Given the description of an element on the screen output the (x, y) to click on. 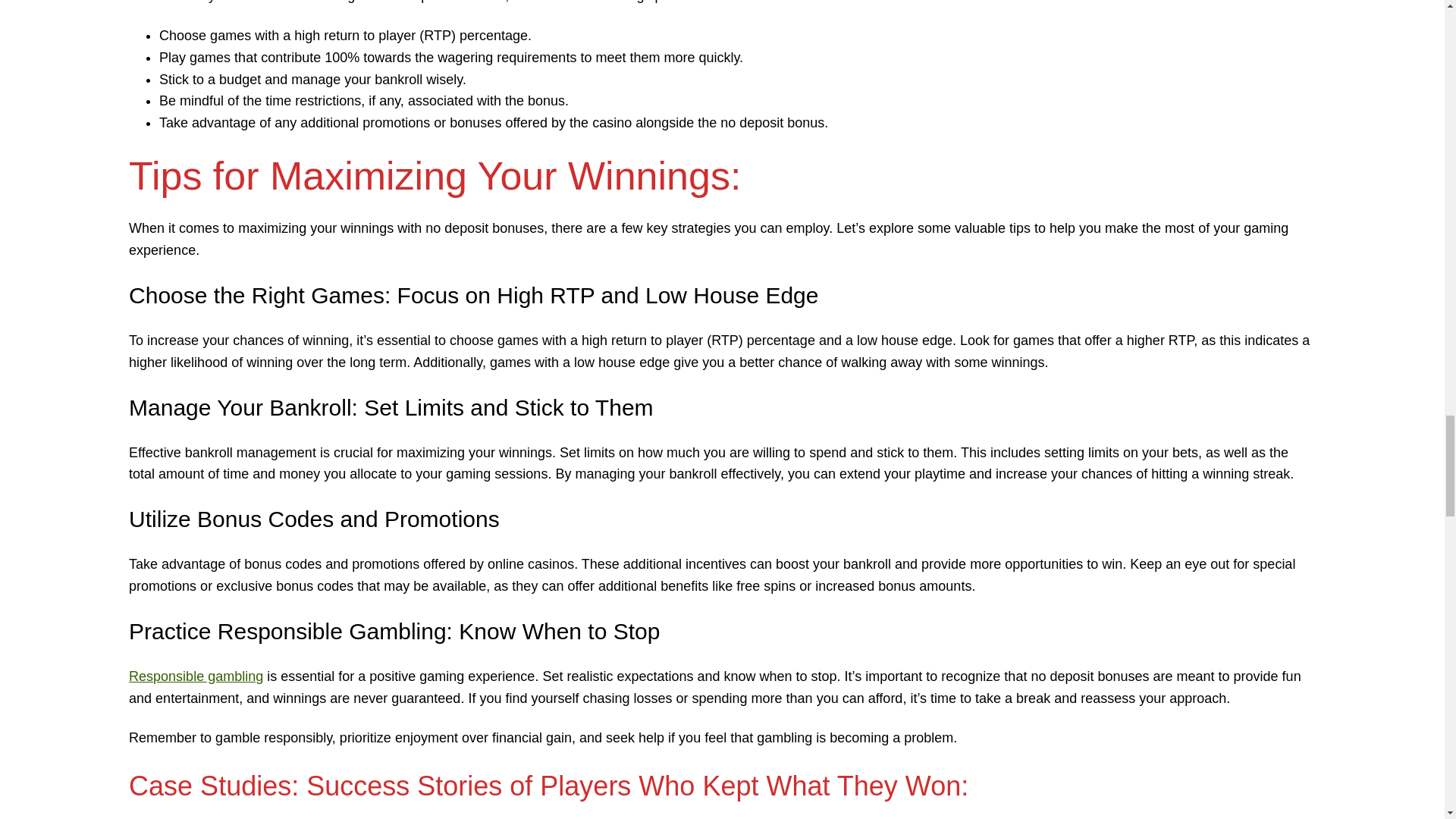
Responsible gambling (196, 676)
